Given the description of an element on the screen output the (x, y) to click on. 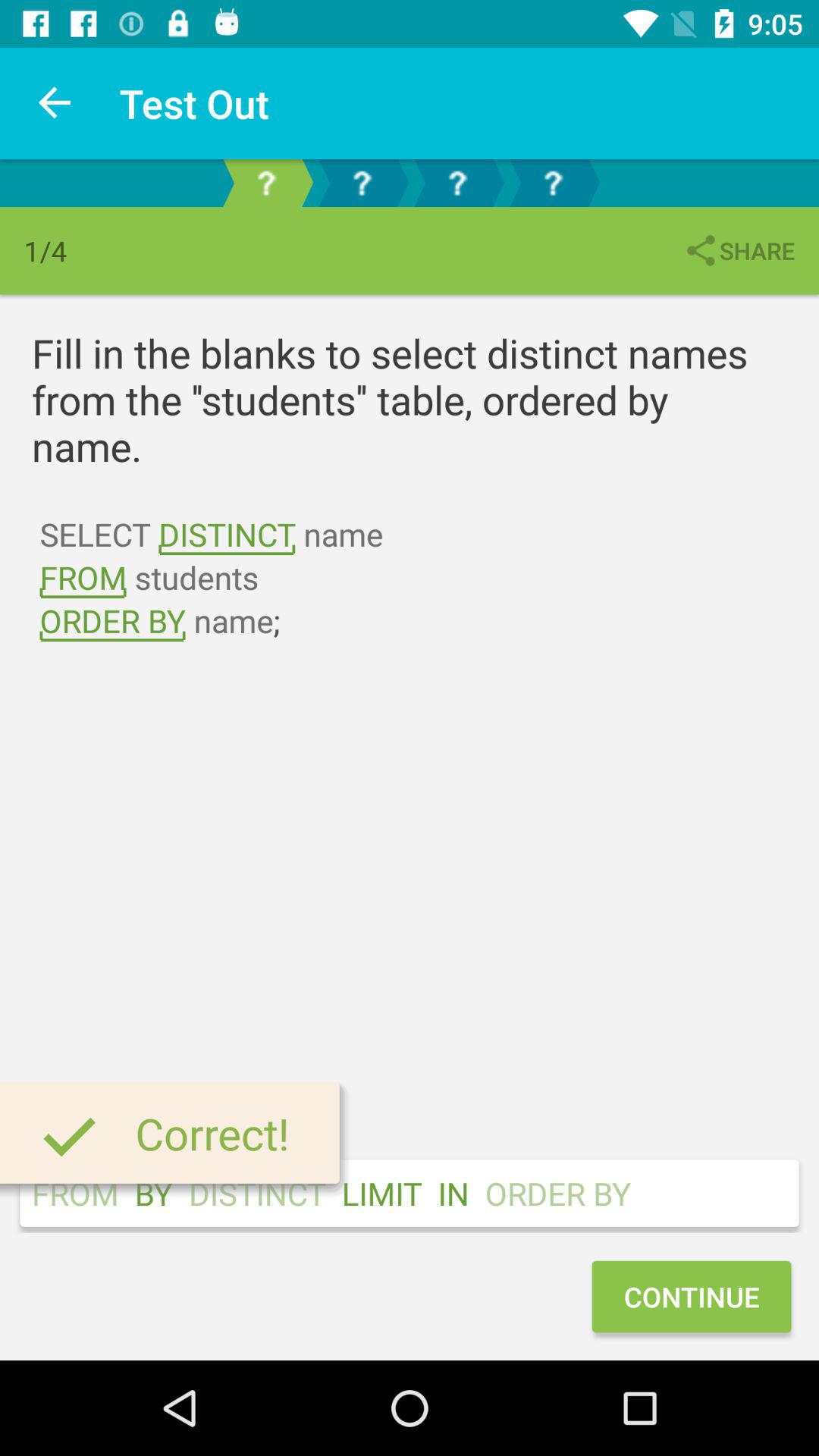
open continue item (691, 1296)
